Given the description of an element on the screen output the (x, y) to click on. 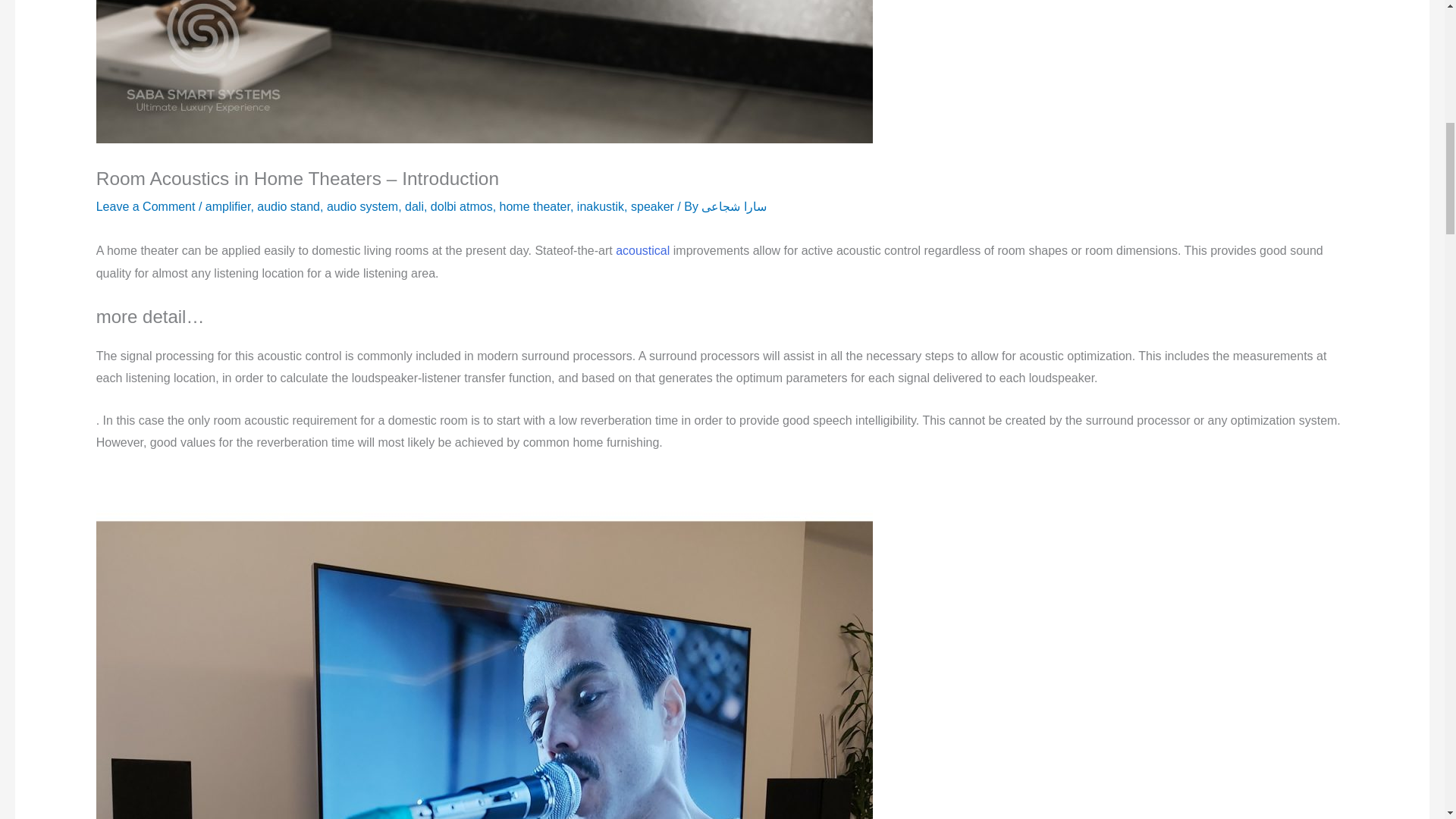
Leave a Comment (145, 205)
audio system (361, 205)
home theater (534, 205)
acoustical (642, 250)
amplifier (227, 205)
dali (413, 205)
speaker (652, 205)
inakustik (600, 205)
audio stand (288, 205)
dolbi atmos (461, 205)
